Given the description of an element on the screen output the (x, y) to click on. 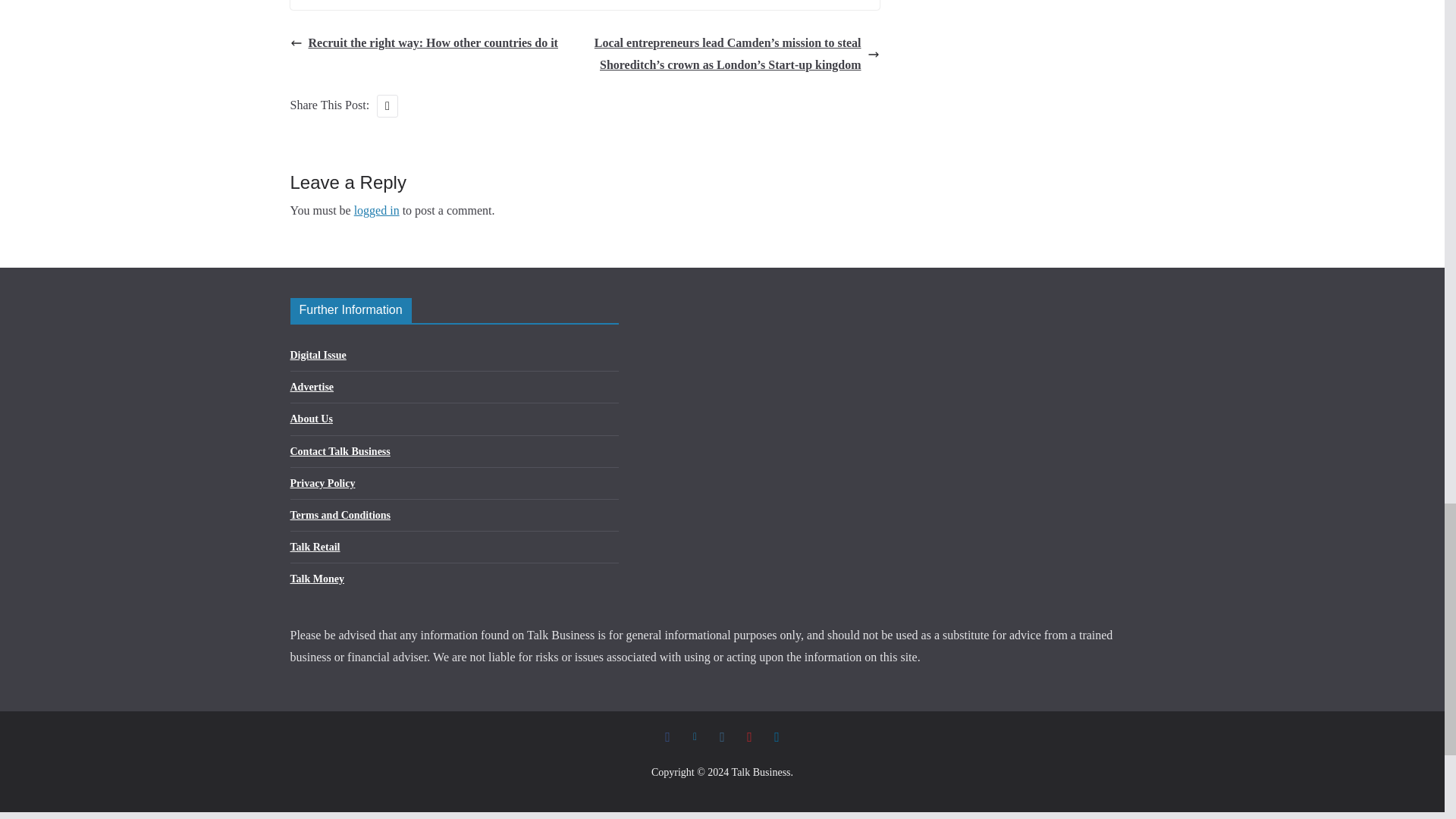
logged in (375, 210)
Recruit the right way: How other countries do it (423, 43)
